Given the description of an element on the screen output the (x, y) to click on. 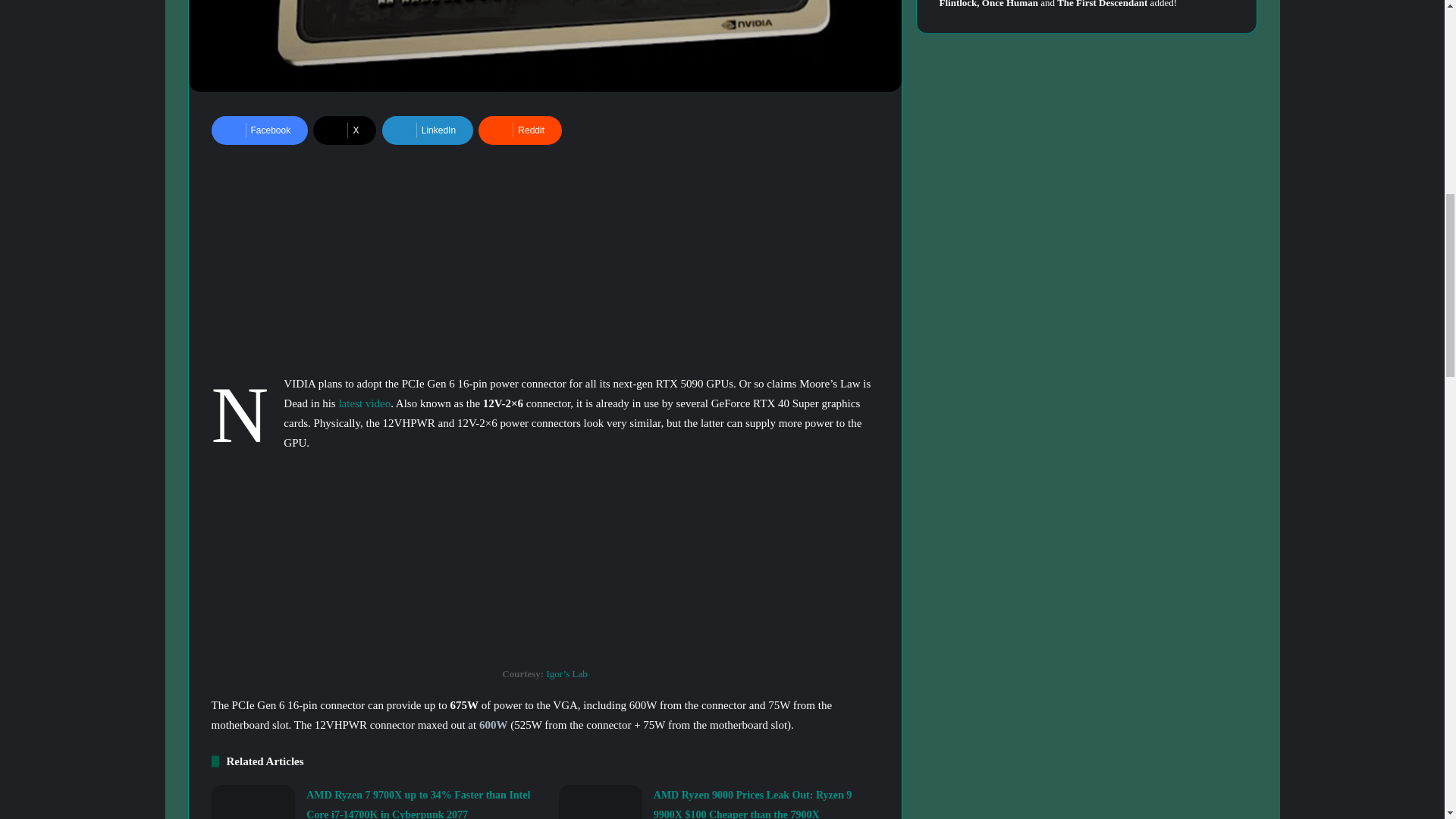
X (344, 130)
X (344, 130)
LinkedIn (427, 130)
Reddit (520, 130)
Reddit (520, 130)
Facebook (259, 130)
Facebook (259, 130)
LinkedIn (427, 130)
latest video (363, 403)
